Given the description of an element on the screen output the (x, y) to click on. 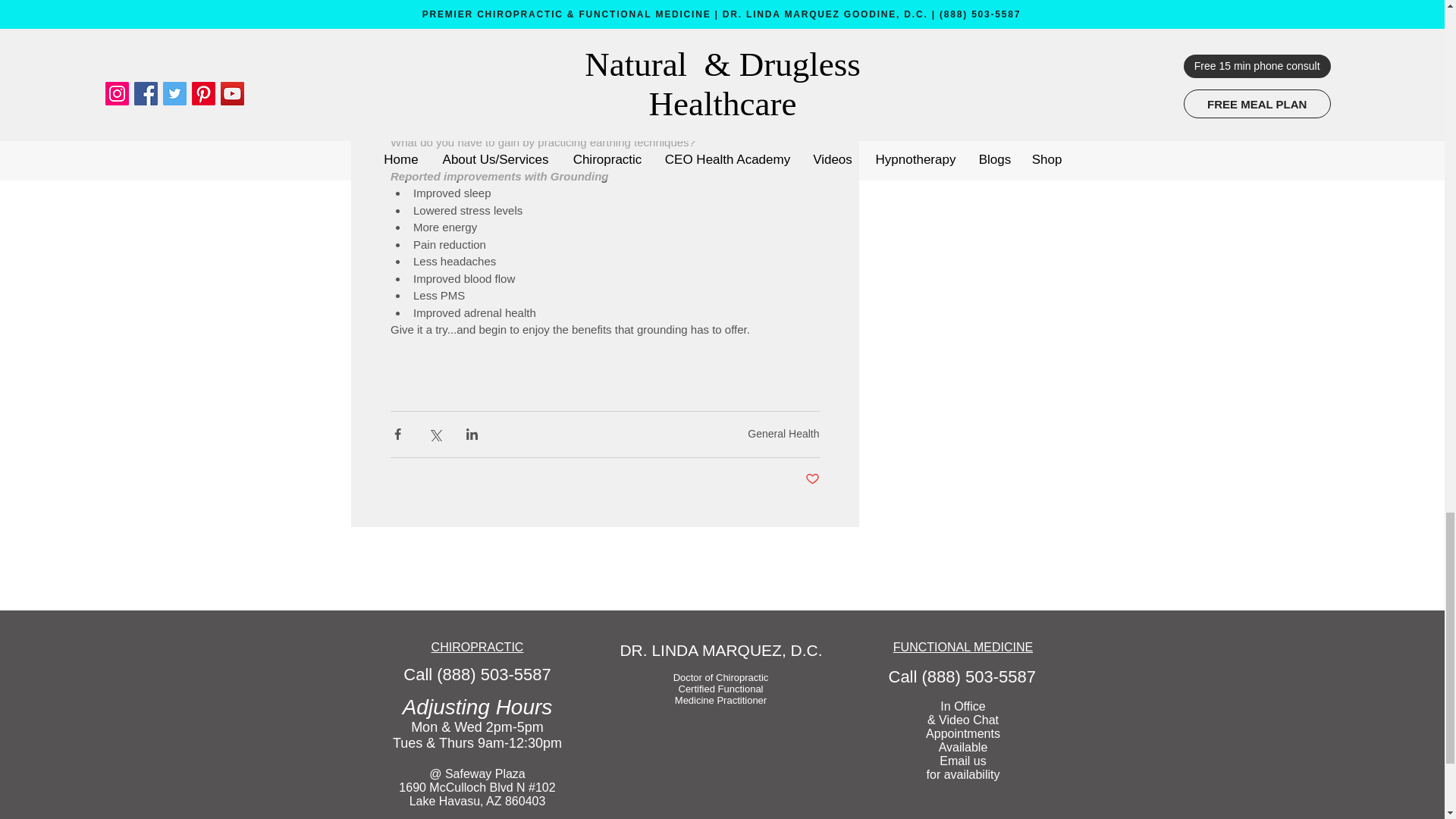
Amazon. (414, 39)
Post not marked as liked (812, 479)
General Health (783, 433)
